Given the description of an element on the screen output the (x, y) to click on. 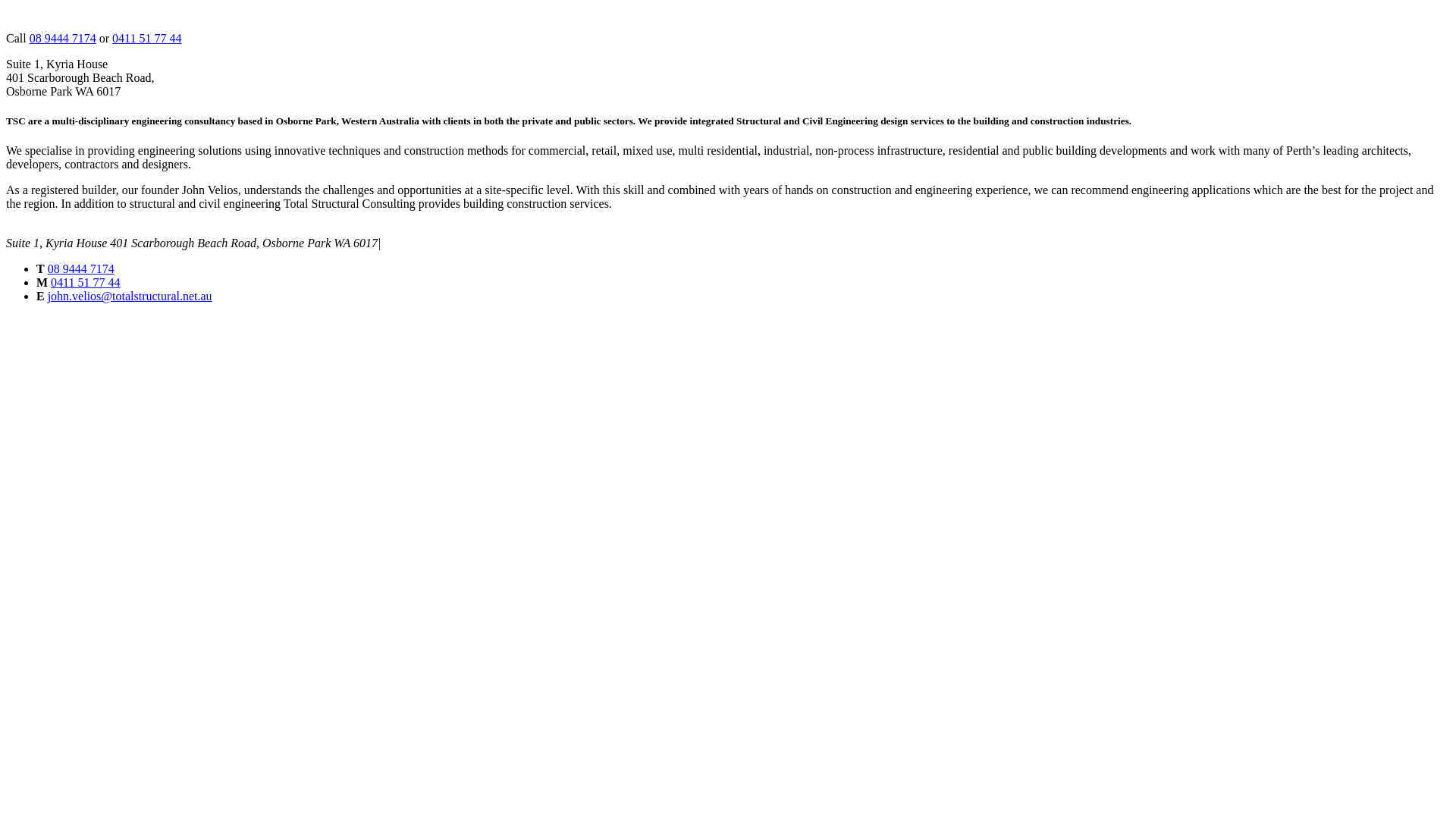
08 9444 7174 Element type: text (80, 268)
0411 51 77 44 Element type: text (84, 282)
0411 51 77 44 Element type: text (146, 37)
john.velios@totalstructural.net.au Element type: text (129, 295)
08 9444 7174 Element type: text (62, 37)
